Given the description of an element on the screen output the (x, y) to click on. 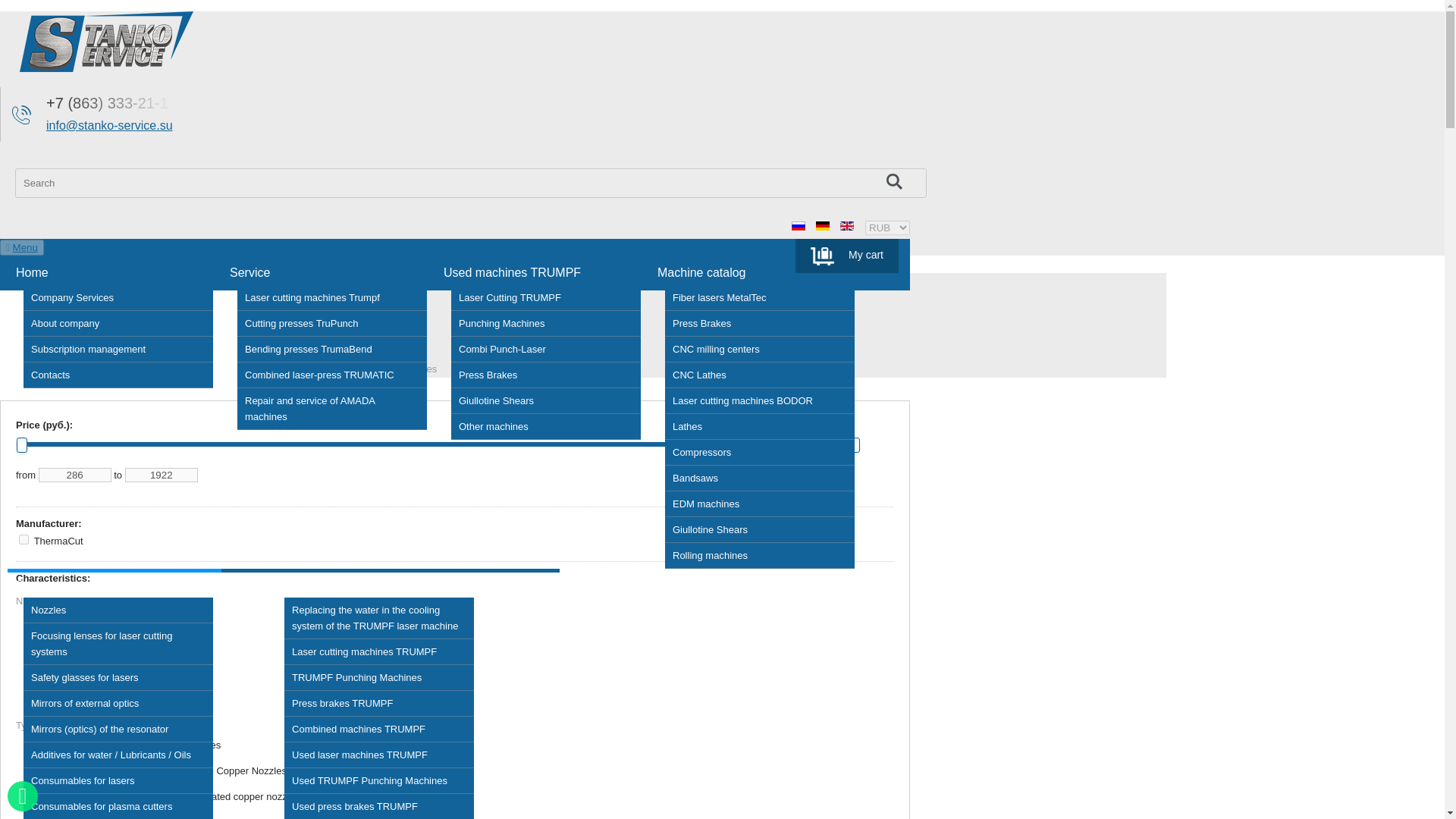
Combined laser-press TRUMATIC (331, 374)
286 (75, 474)
Home (32, 272)
Service (249, 272)
334 (62, 746)
Menu (25, 247)
Repair and service of AMADA machines (331, 409)
246 (62, 647)
Login (831, 246)
Laser cutting machines Trumpf (331, 297)
1922 (161, 474)
Company Services (117, 297)
4 (23, 539)
Bending presses TrumaBend (331, 349)
Registration (881, 246)
